Given the description of an element on the screen output the (x, y) to click on. 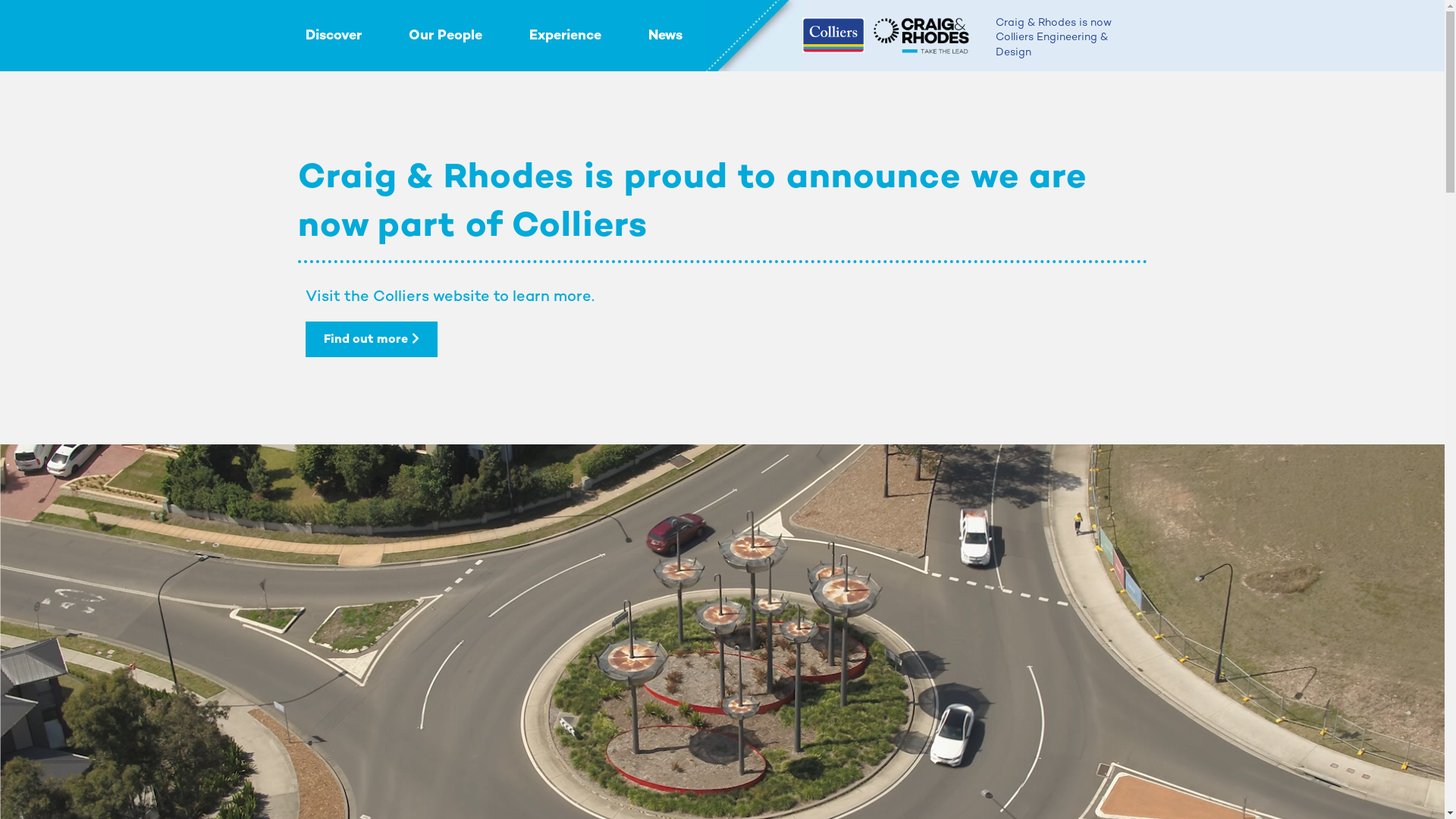
Our People Element type: text (444, 43)
Find out more Element type: text (370, 338)
Discover Element type: text (332, 43)
News Element type: text (664, 43)
Experience Element type: text (565, 43)
